Given the description of an element on the screen output the (x, y) to click on. 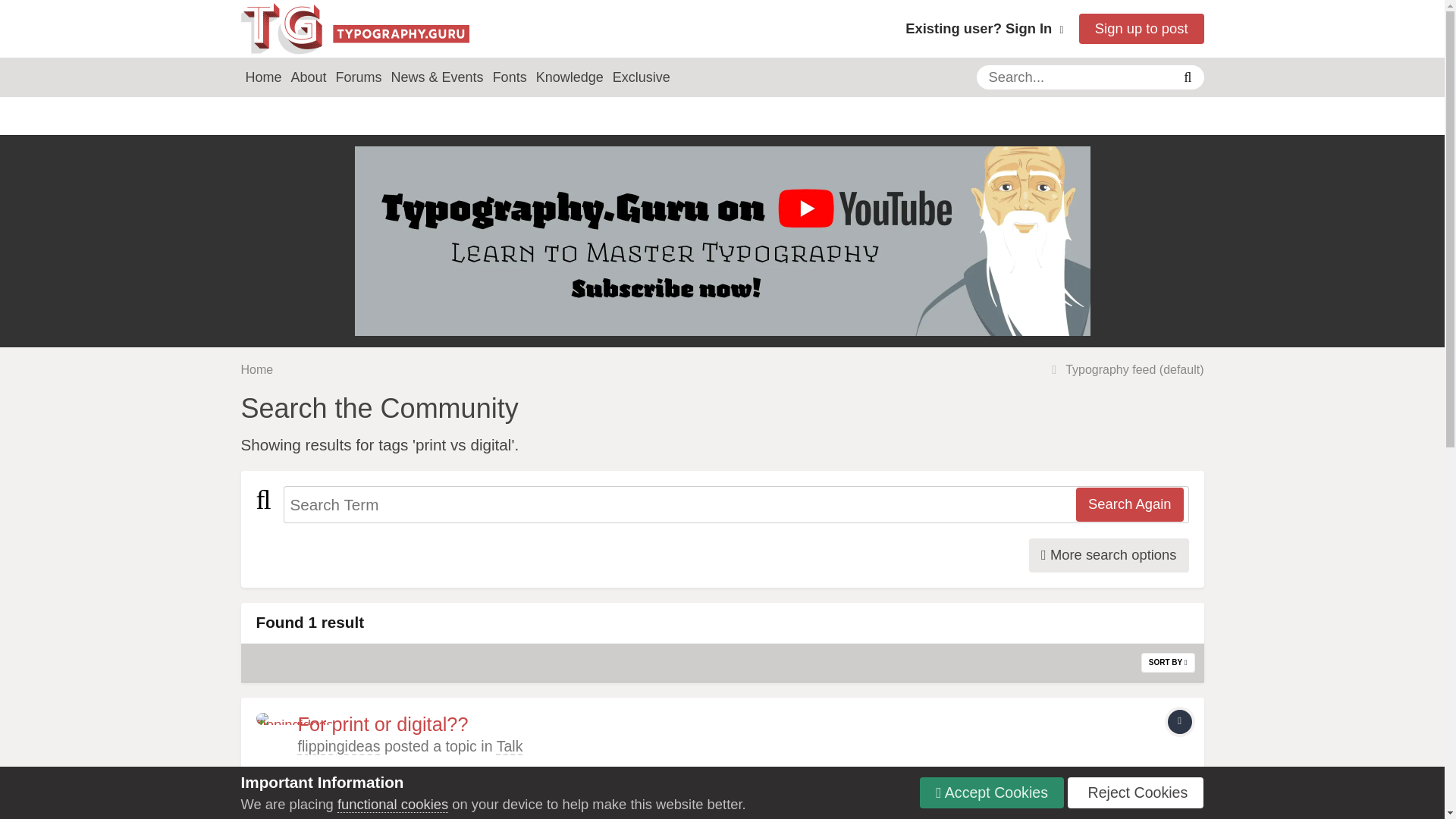
Knowledge (569, 77)
Fonts (509, 77)
Forums (359, 77)
Existing user? Sign In   (983, 28)
Topic (1179, 721)
Go to flippingideas's profile (338, 745)
About (308, 77)
Sign up to post (1141, 28)
Home (257, 369)
Go to flippingideas's profile (272, 729)
Home (263, 77)
Exclusive (641, 77)
